Given the description of an element on the screen output the (x, y) to click on. 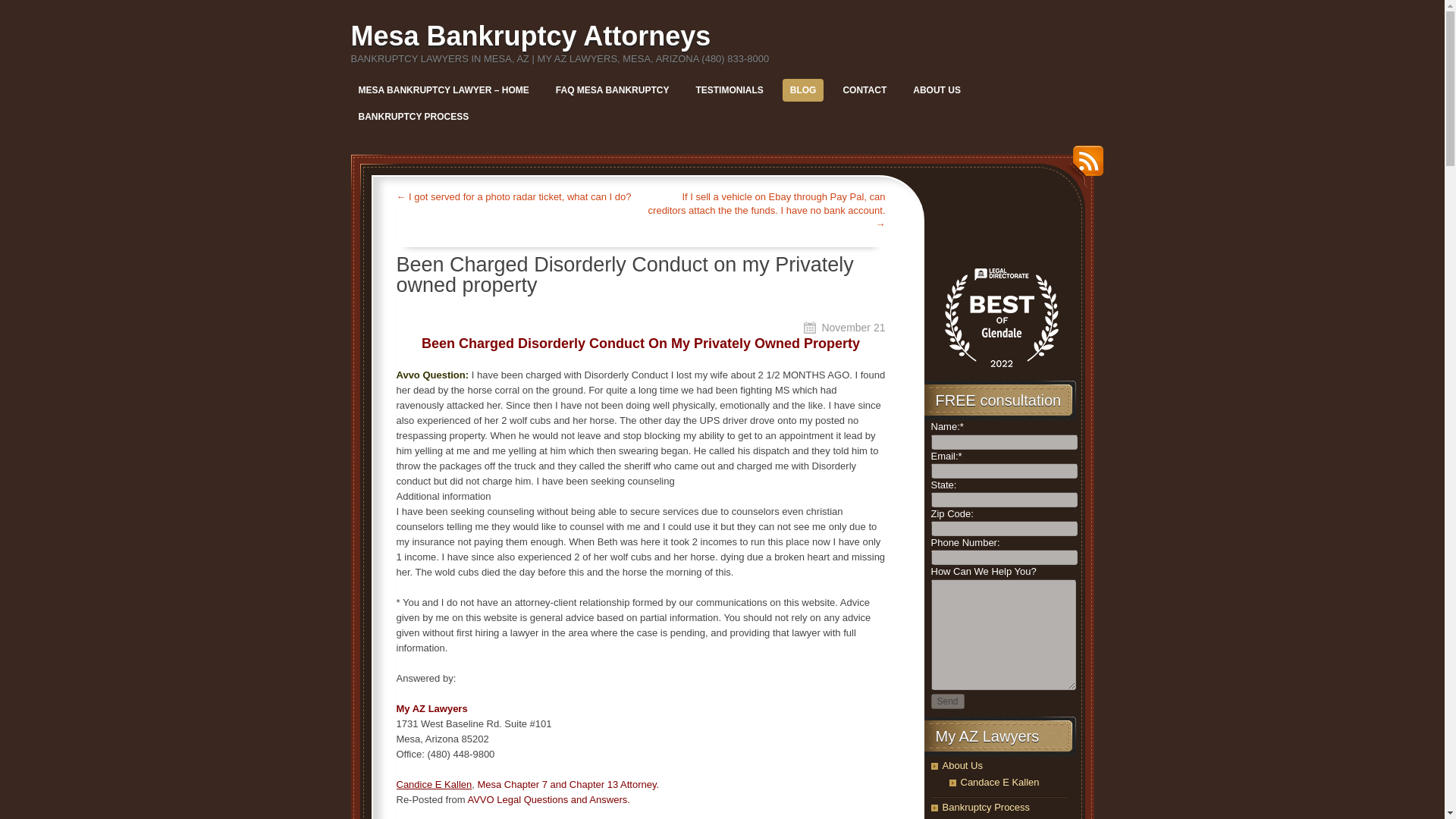
Candace E. Kallen (433, 784)
About Us (961, 765)
BANKRUPTCY PROCESS (413, 116)
Bankruptcy Process (985, 807)
Mesa Chapter 7 and Chapter 13 Attorney (566, 784)
Candace E Kallen (999, 781)
BLOG (803, 89)
Send (947, 701)
Candice E Kallen (433, 784)
FAQ MESA BANKRUPTCY (612, 89)
